Given the description of an element on the screen output the (x, y) to click on. 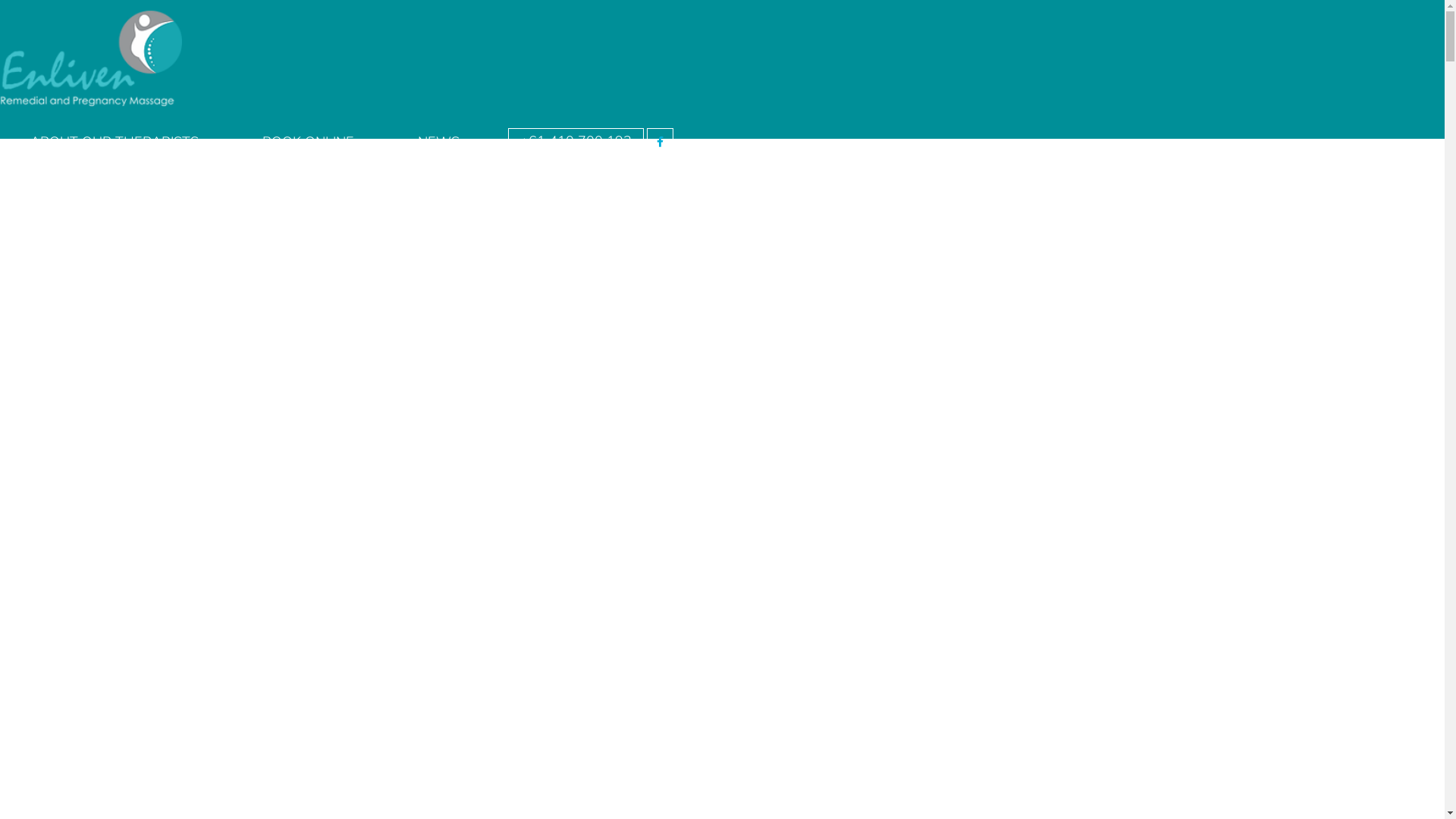
BOOK ONLINE Element type: text (308, 141)
+61 410 700 193 Element type: text (575, 141)
ABOUT OUR THERAPISTS Element type: text (114, 141)
NEWS Element type: text (438, 141)
